Given the description of an element on the screen output the (x, y) to click on. 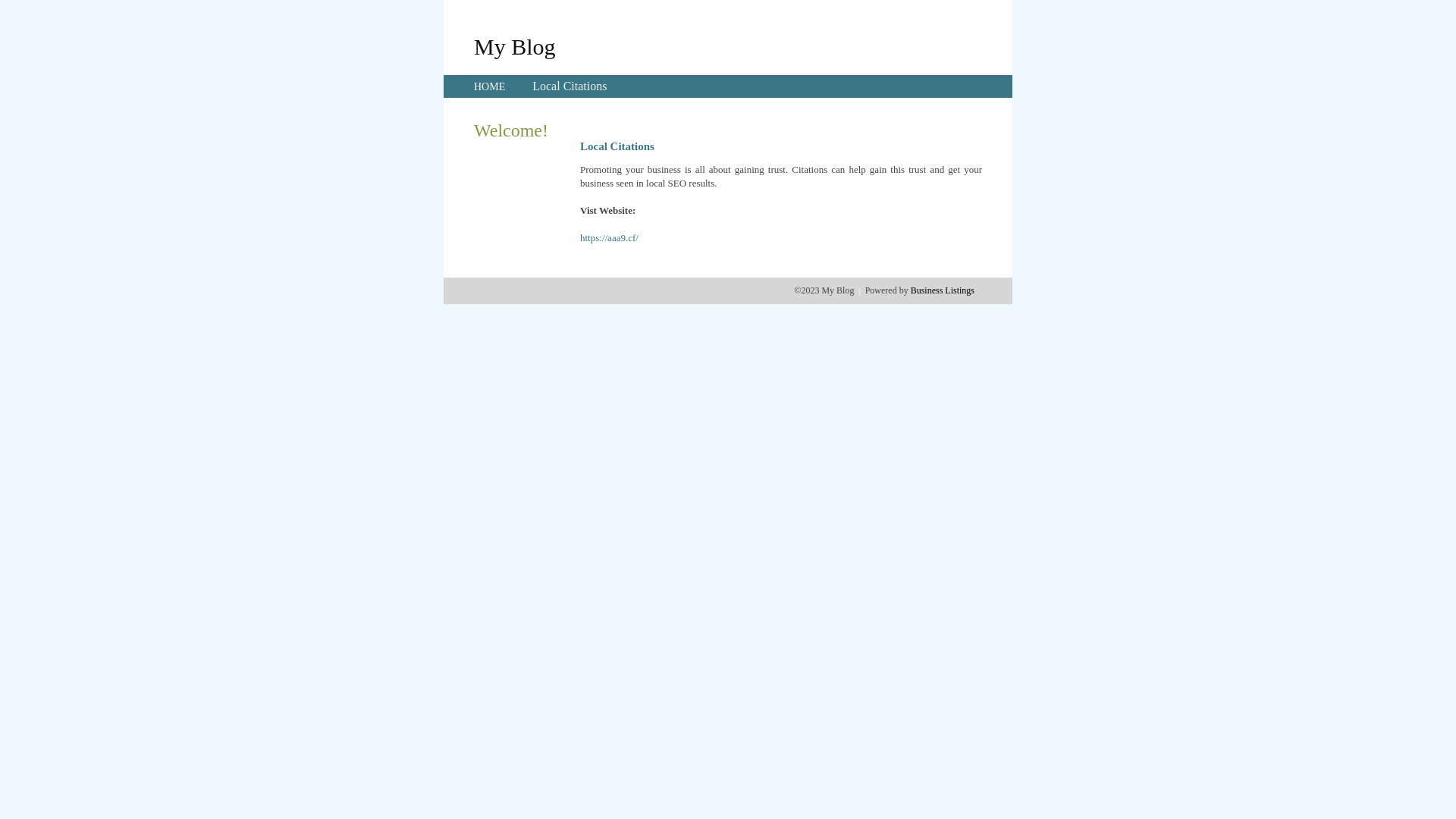
https://aaa9.cf/ Element type: text (609, 237)
HOME Element type: text (489, 86)
Business Listings Element type: text (942, 290)
Local Citations Element type: text (569, 85)
My Blog Element type: text (514, 46)
